Given the description of an element on the screen output the (x, y) to click on. 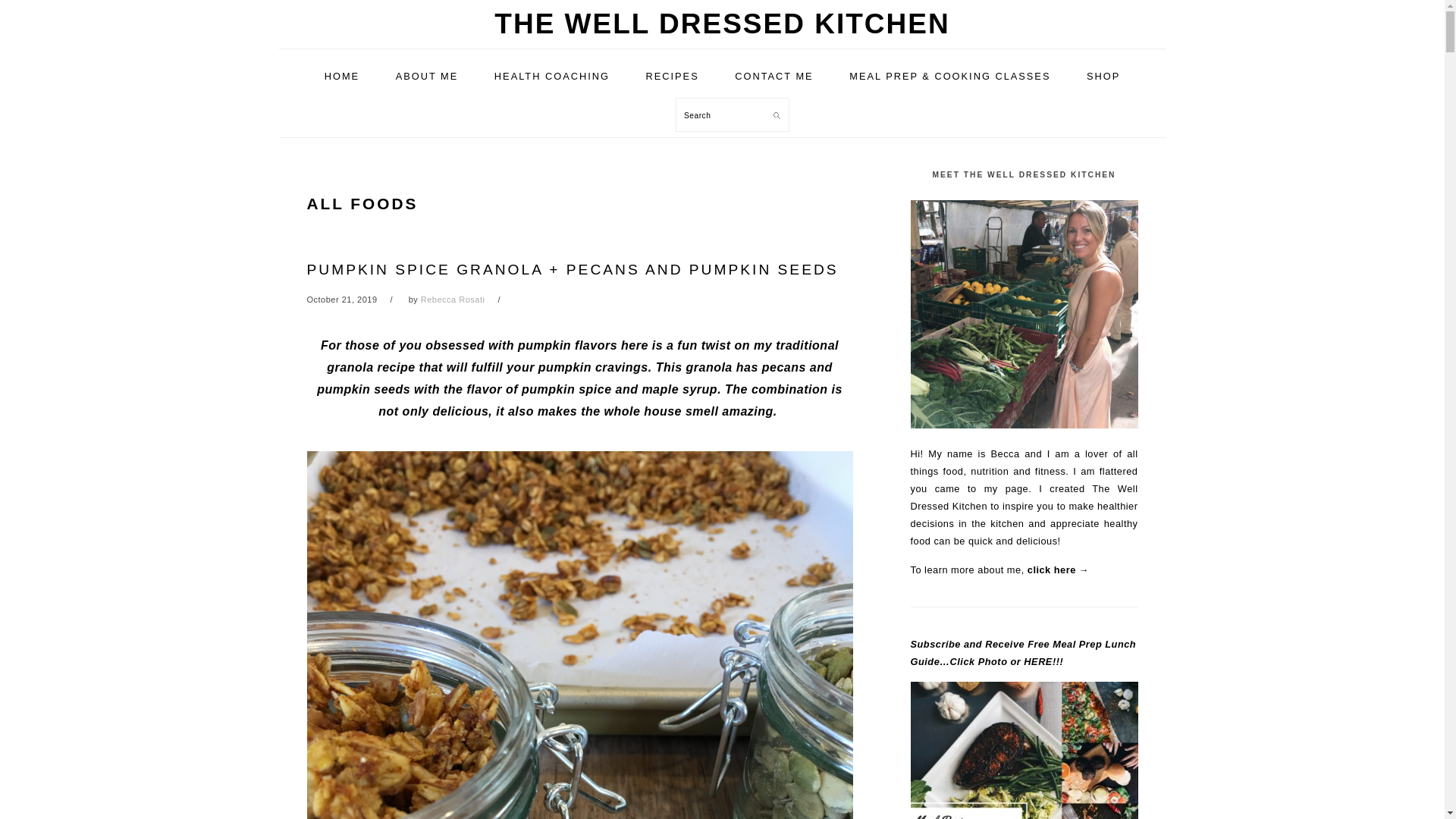
Rebecca Rosati (452, 298)
ABOUT ME (427, 75)
RECIPES (671, 75)
HOME (341, 75)
SHOP (1102, 75)
HEALTH COACHING (552, 75)
CONTACT ME (773, 75)
THE WELL DRESSED KITCHEN (722, 23)
